Given the description of an element on the screen output the (x, y) to click on. 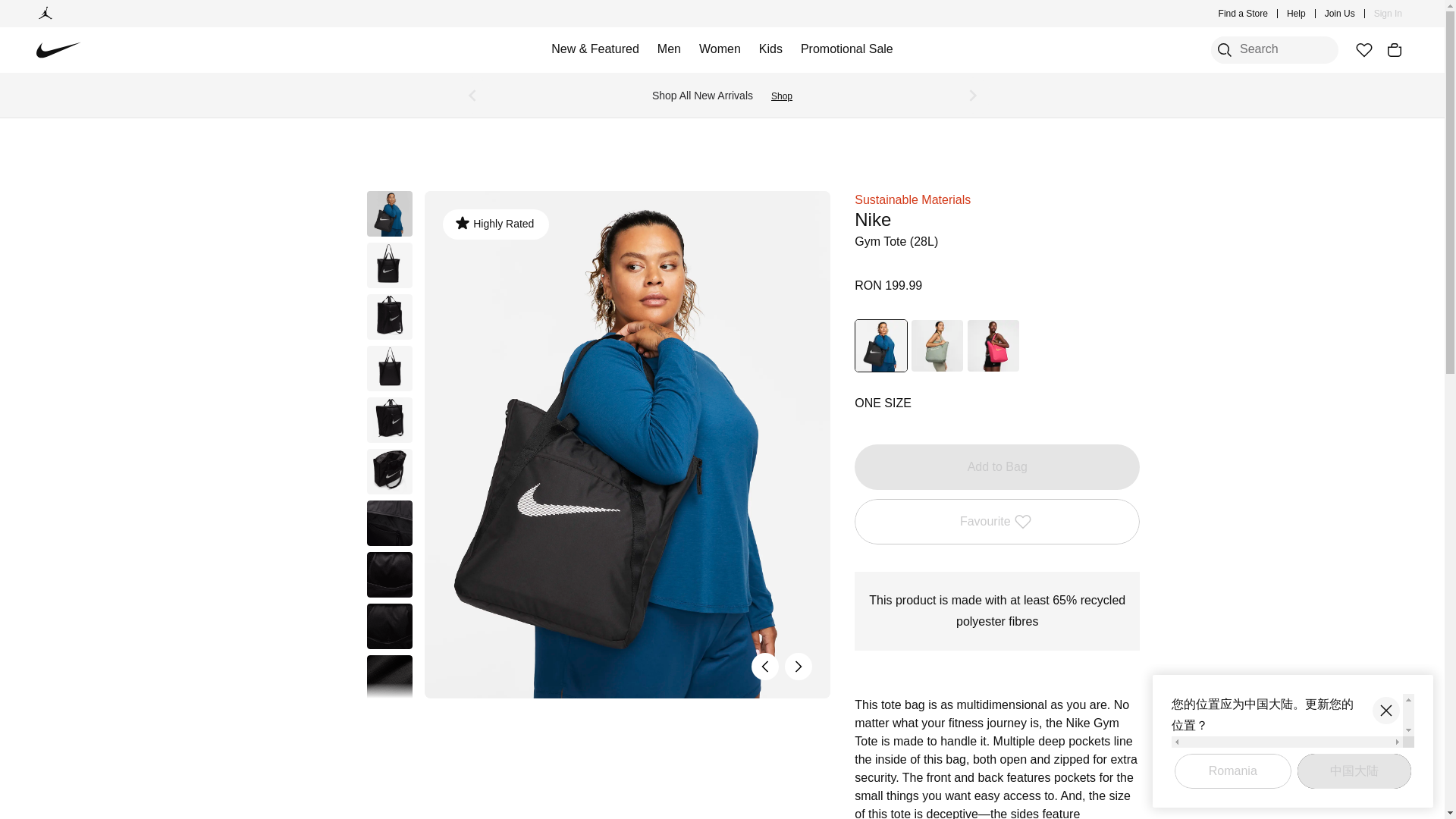
Favourites (1364, 49)
Find a Store (1243, 13)
Join Us (1339, 13)
Bag Items: 0 (1393, 49)
Sign In (1388, 13)
Help (1296, 13)
